Given the description of an element on the screen output the (x, y) to click on. 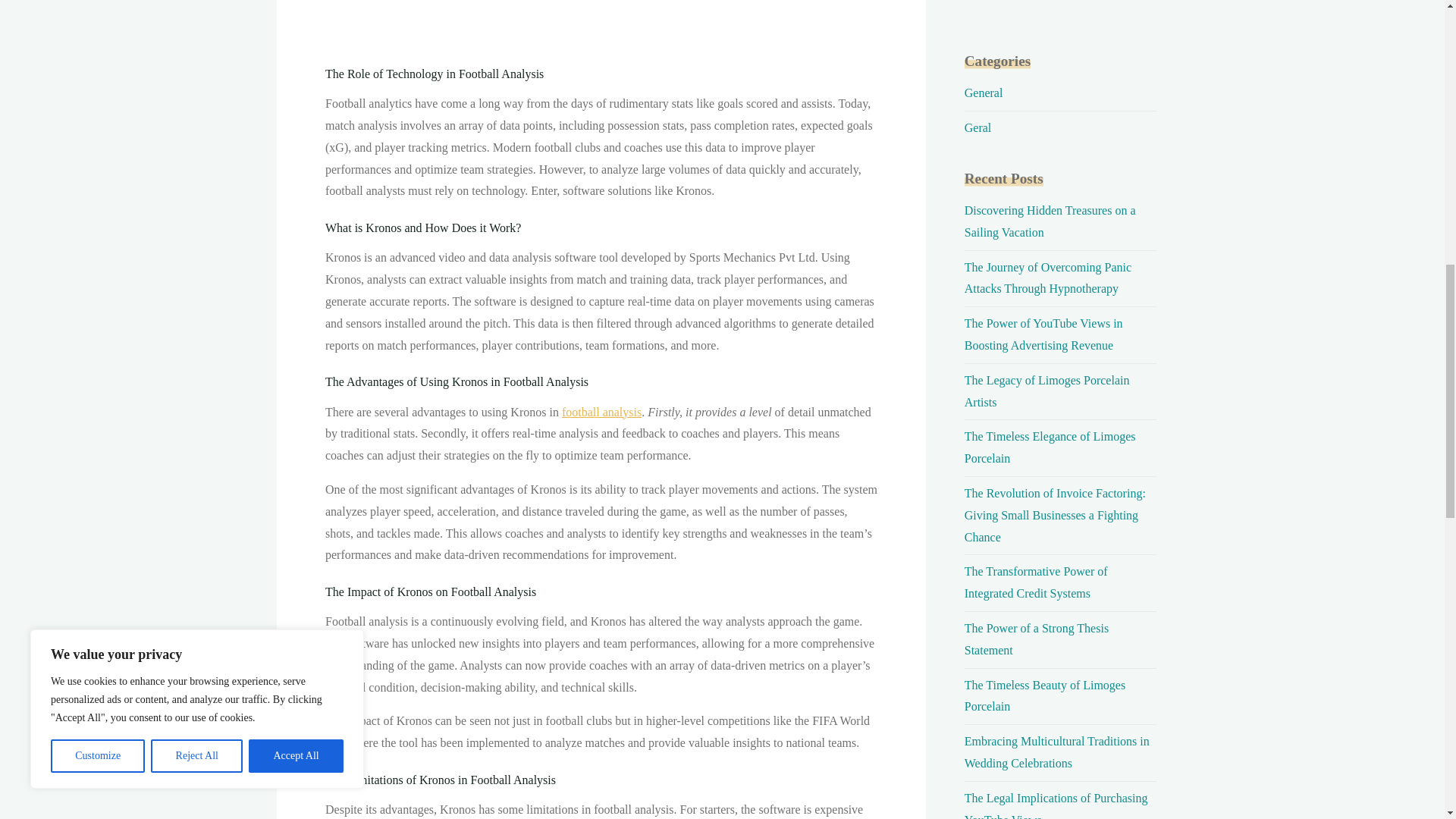
football analysis (600, 411)
Geral (977, 127)
The Power of YouTube Views in Boosting Advertising Revenue (1042, 334)
The Journey of Overcoming Panic Attacks Through Hypnotherapy (1047, 278)
The Legacy of Limoges Porcelain Artists (1046, 390)
Discovering Hidden Treasures on a Sailing Vacation (1049, 221)
General (983, 92)
